Given the description of an element on the screen output the (x, y) to click on. 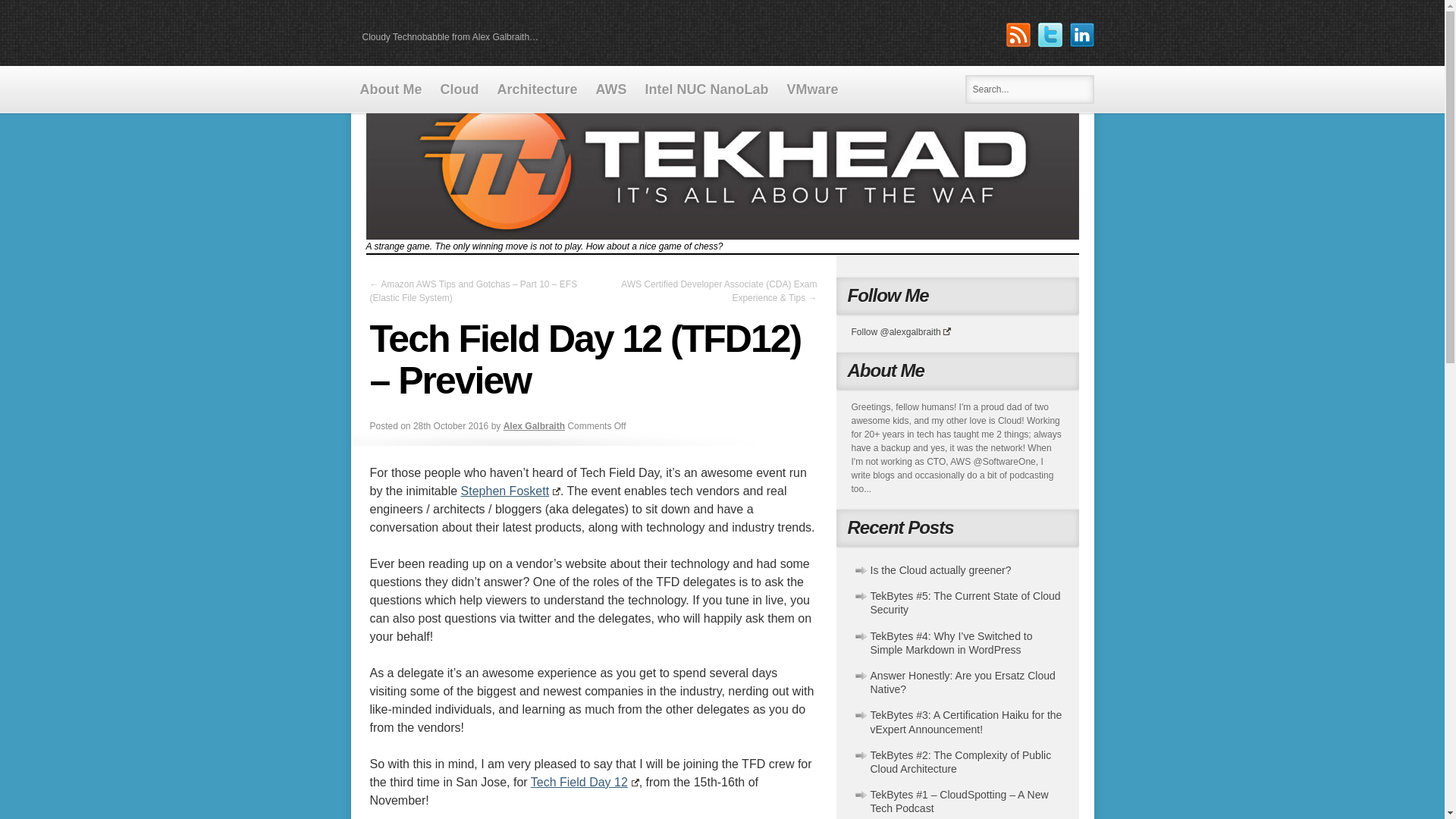
Architecture (536, 89)
Tech Field Day 12 (585, 781)
View all posts by Alex Galbraith (533, 425)
Cloud (458, 89)
Intel NUC NanoLab (706, 89)
About Me (390, 89)
Stephen Foskett (510, 490)
Alex Galbraith (533, 425)
AWS (611, 89)
VMware (812, 89)
